Given the description of an element on the screen output the (x, y) to click on. 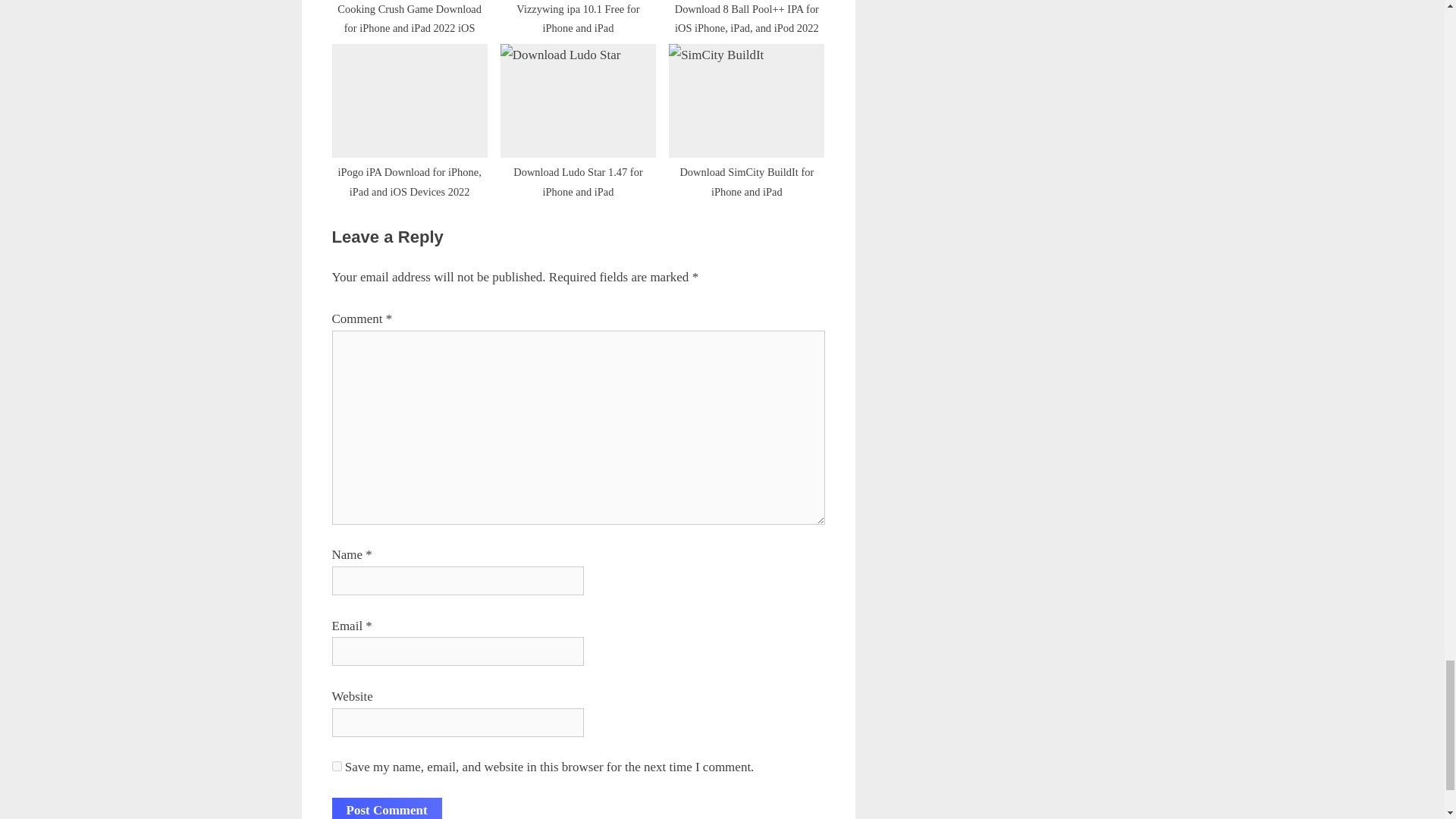
iPogo iPA Download for iPhone, iPad and iOS Devices 2022 (409, 116)
Download Ludo Star 1.47 for iPhone and iPad (578, 116)
Download SimCity BuildIt for iPhone and iPad (746, 116)
Cooking Crush Game Download for iPhone and iPad 2022 iOS (409, 12)
Post Comment (386, 808)
Vizzywing ipa 10.1 Free for iPhone and iPad (578, 12)
yes (336, 766)
Post Comment (386, 808)
